Given the description of an element on the screen output the (x, y) to click on. 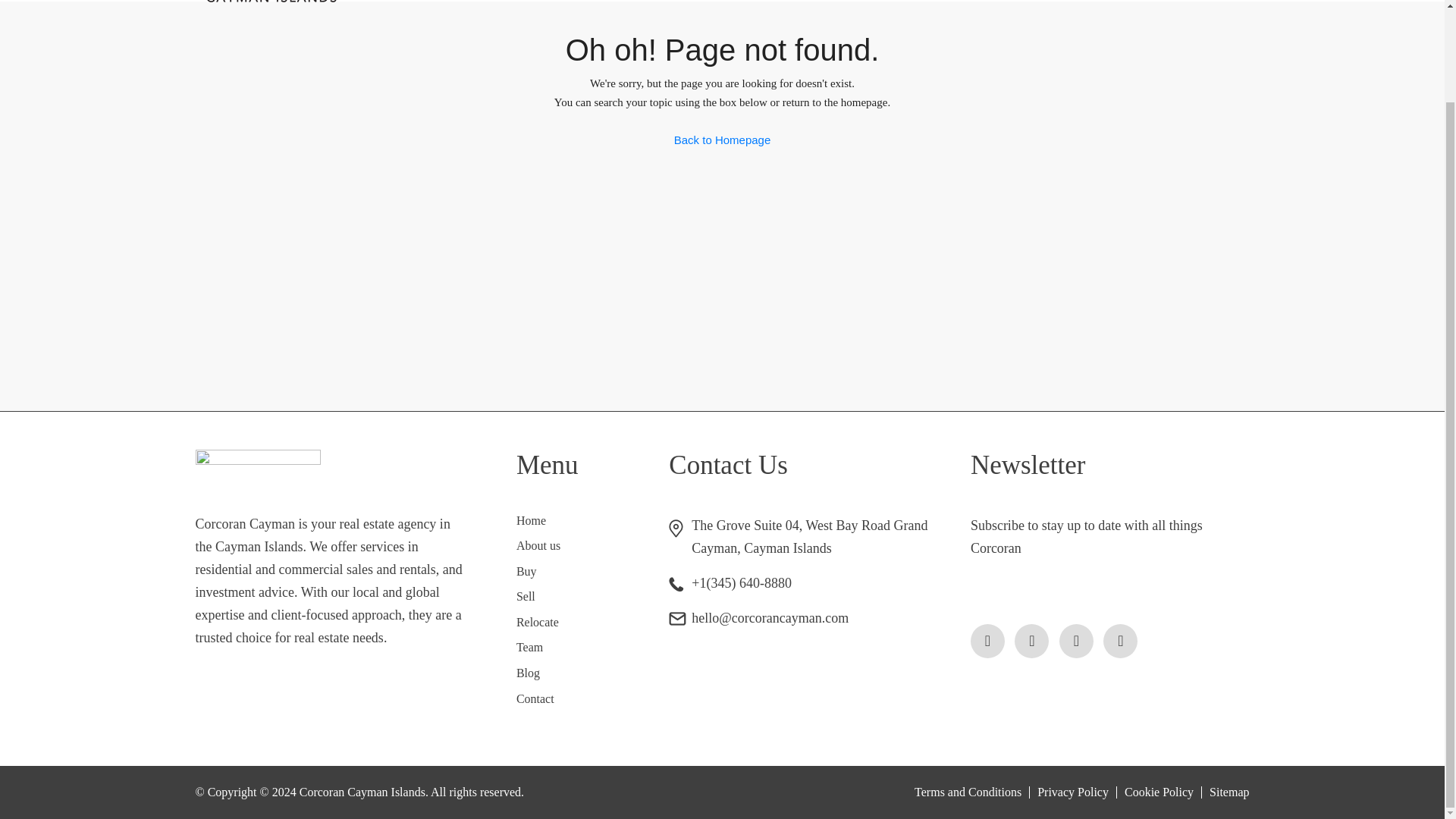
About us (538, 545)
Contact (535, 698)
Sell (525, 595)
Buy (526, 571)
Team (529, 646)
Relocate (537, 621)
Home (531, 520)
Blog (528, 672)
Back to Homepage (722, 140)
